Given the description of an element on the screen output the (x, y) to click on. 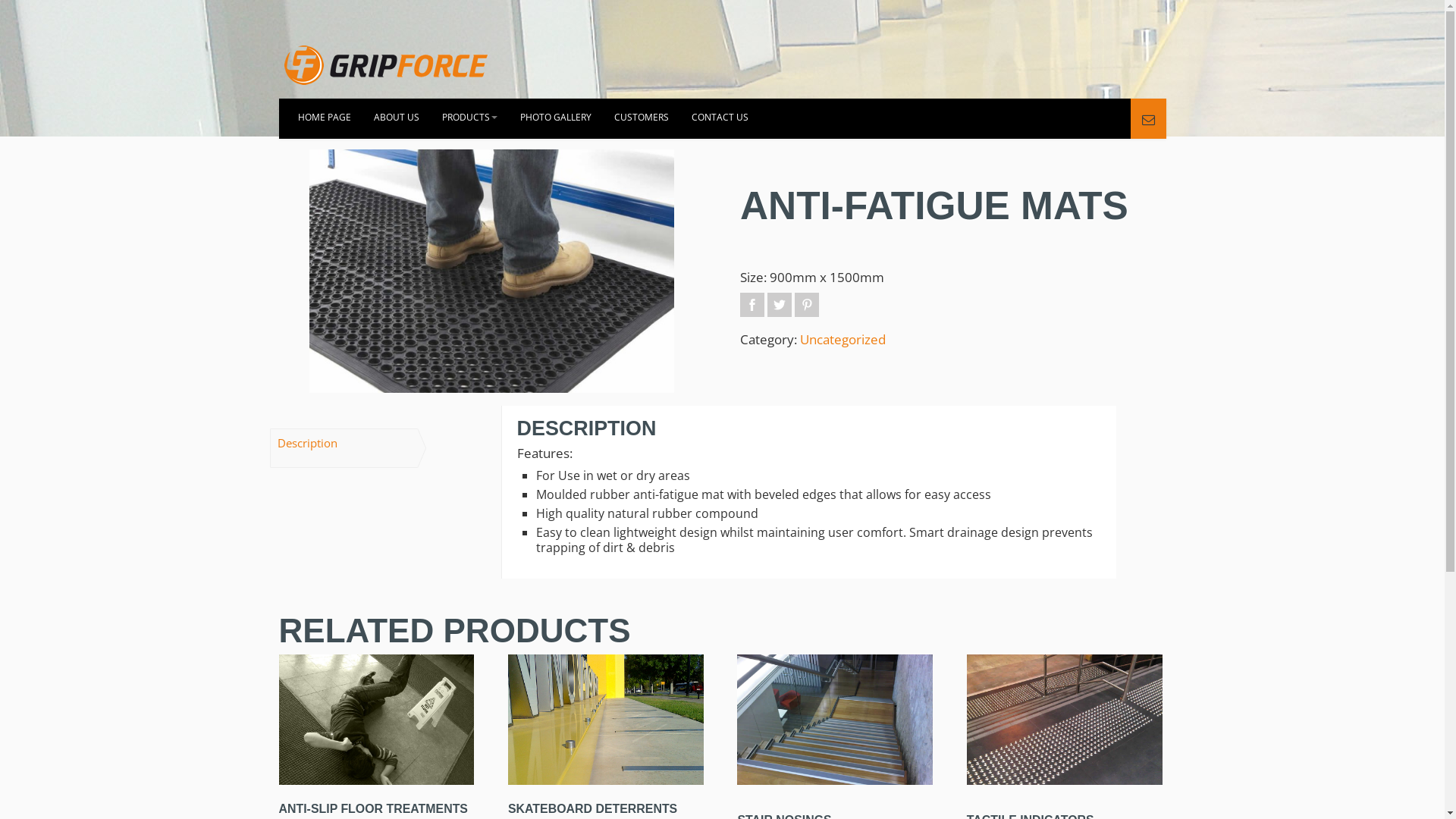
CUSTOMERS Element type: text (640, 118)
Photo#5 Element type: hover (491, 270)
PRODUCTS Element type: text (469, 118)
CONTACT US Element type: text (719, 118)
Uncategorized Element type: text (842, 339)
ABOUT US Element type: text (396, 118)
Description Element type: text (307, 442)
PHOTO GALLERY Element type: text (555, 118)
HOME PAGE Element type: text (324, 118)
